Given the description of an element on the screen output the (x, y) to click on. 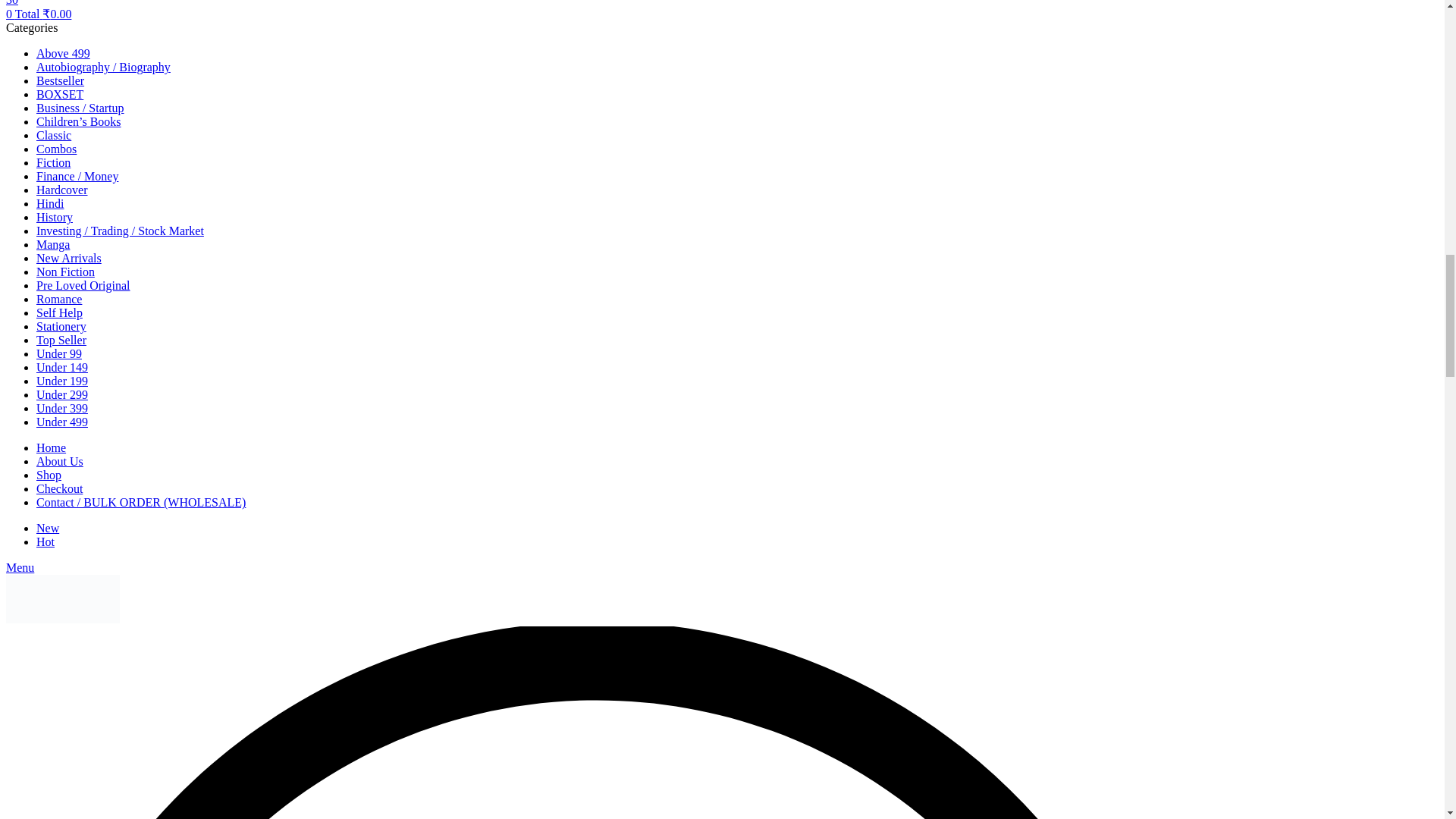
Checkout (59, 488)
BOXSET (59, 93)
Combos (56, 148)
Under 399 (61, 408)
Above 499 (63, 52)
Under 499 (61, 421)
Classic (53, 134)
Under 99 (58, 353)
Under 199 (61, 380)
About Us (59, 461)
Hindi (50, 203)
Hardcover (61, 189)
Non Fiction (65, 271)
New Arrivals (68, 257)
View your shopping cart (38, 13)
